Given the description of an element on the screen output the (x, y) to click on. 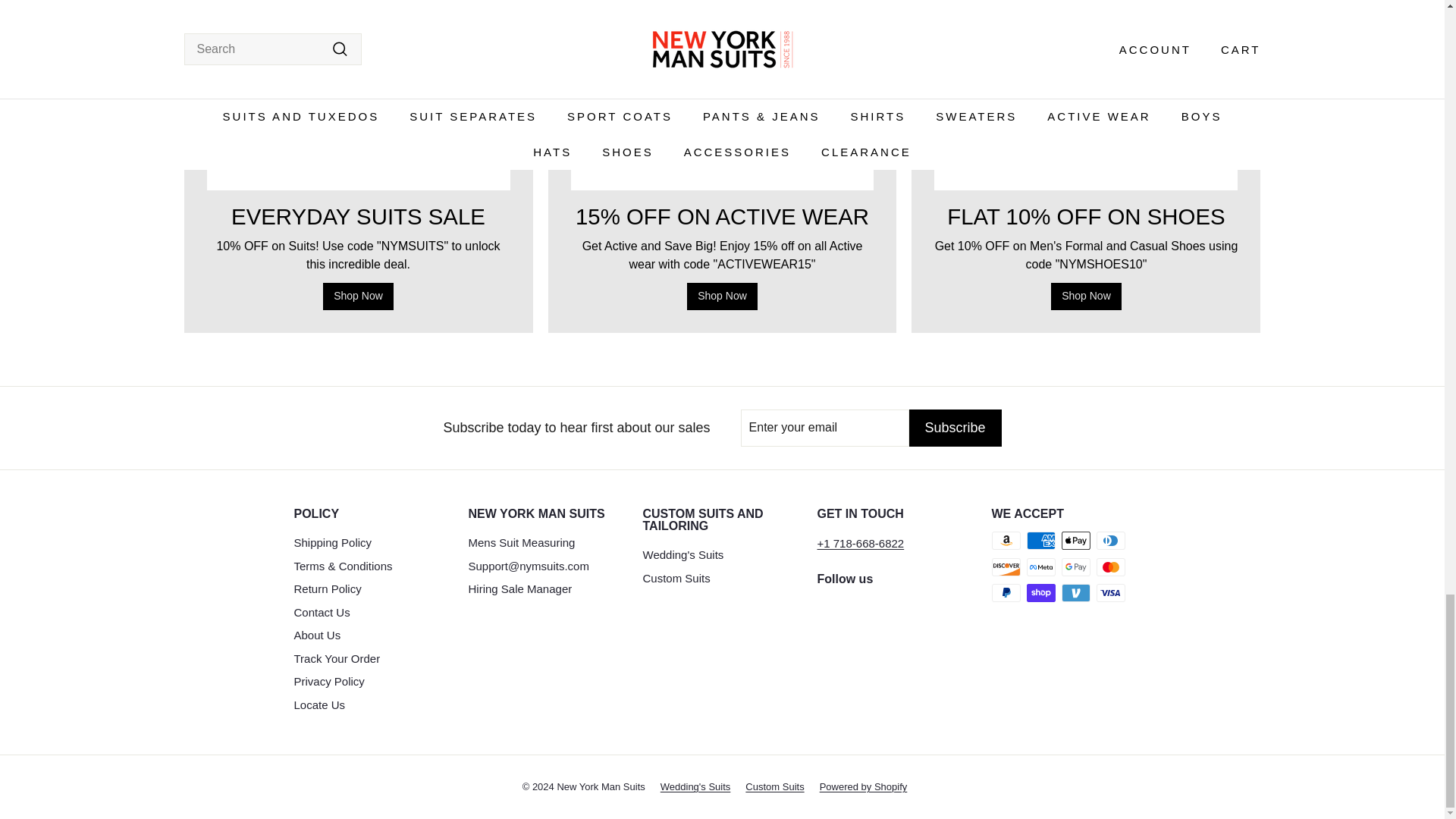
Apple Pay (1075, 540)
Diners Club (1110, 540)
PayPal (1005, 592)
Mastercard (1110, 566)
Shop Pay (1040, 592)
Visa (1110, 592)
Amazon (1005, 540)
Meta Pay (1040, 566)
Discover (1005, 566)
Venmo (1075, 592)
American Express (1040, 540)
Google Pay (1075, 566)
